Given the description of an element on the screen output the (x, y) to click on. 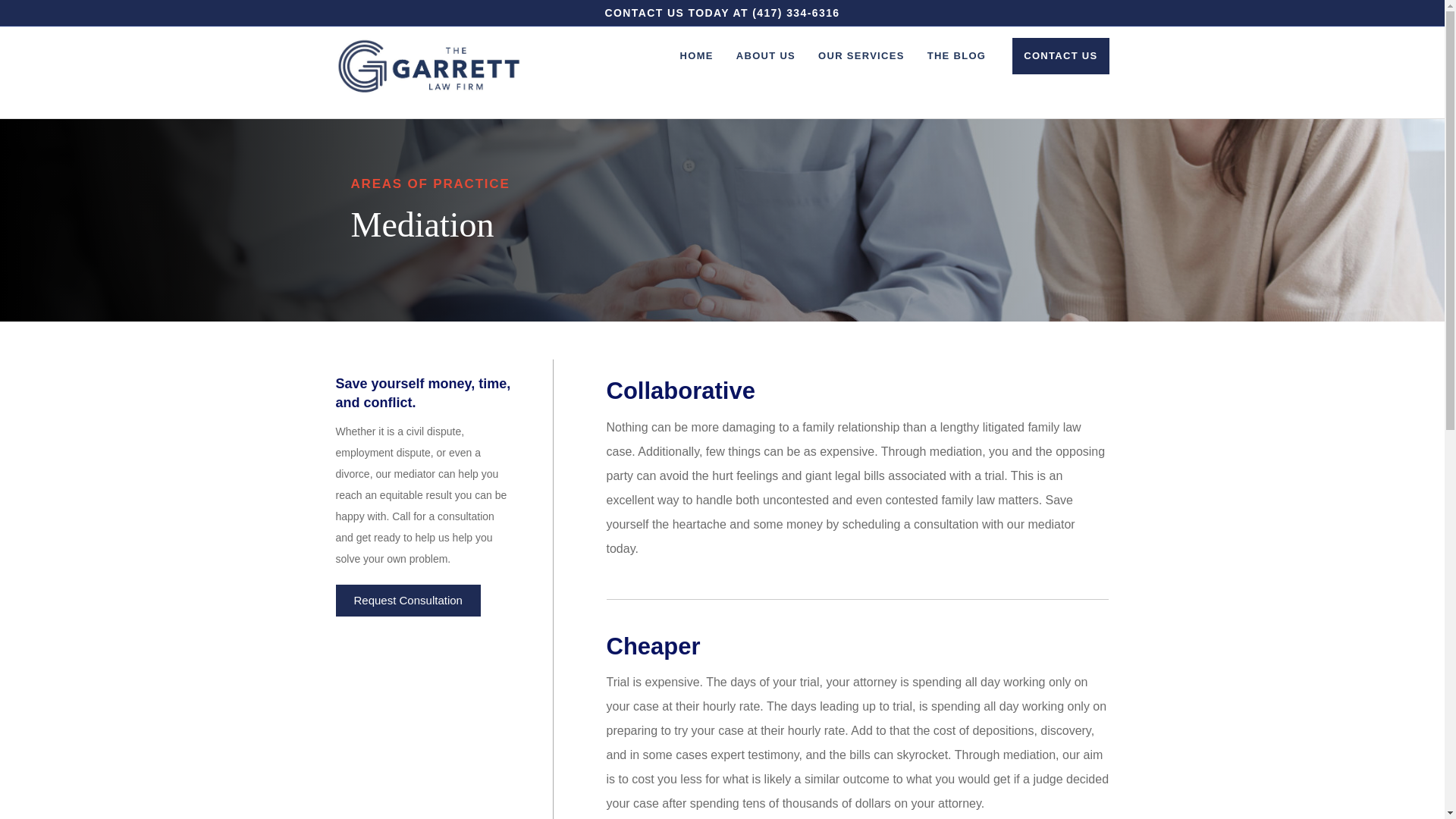
THE BLOG (956, 55)
ABOUT US (765, 55)
HOME (696, 55)
CONTACT US (1059, 55)
Request Consultation (407, 600)
OUR SERVICES (860, 55)
